Given the description of an element on the screen output the (x, y) to click on. 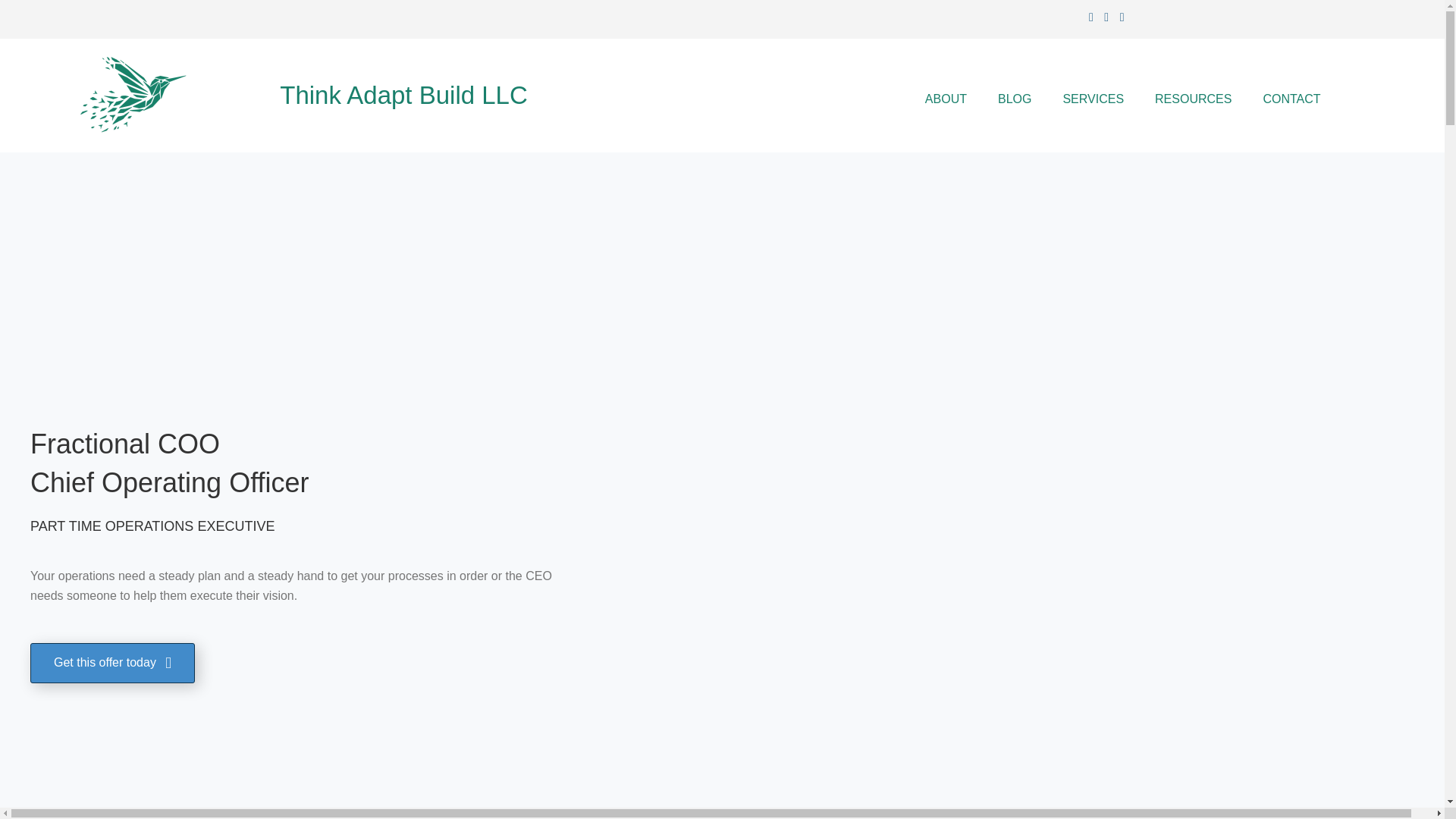
CONTACT (1291, 98)
Think Adapt Build LLC (403, 94)
Get this offer today (112, 662)
ABOUT (945, 98)
Think Adapt Build Logo (132, 95)
BLOG (1014, 98)
SERVICES (1092, 98)
RESOURCES (1193, 98)
Think Adapt Build LLC (403, 94)
